Given the description of an element on the screen output the (x, y) to click on. 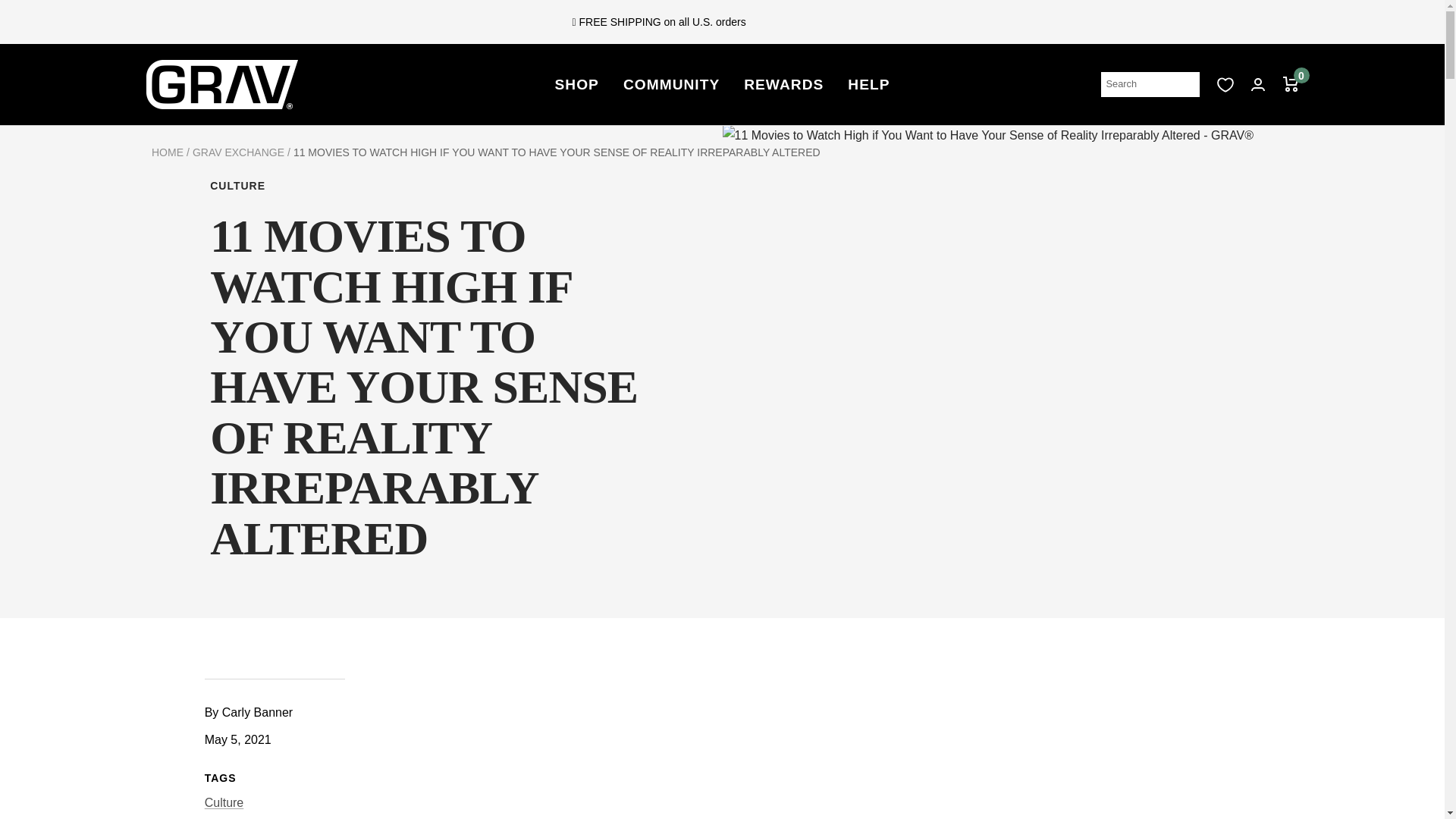
COMMUNITY (671, 84)
0 (1290, 83)
REWARDS (784, 84)
HELP (868, 84)
Search (1149, 84)
SHOP (576, 84)
